Given the description of an element on the screen output the (x, y) to click on. 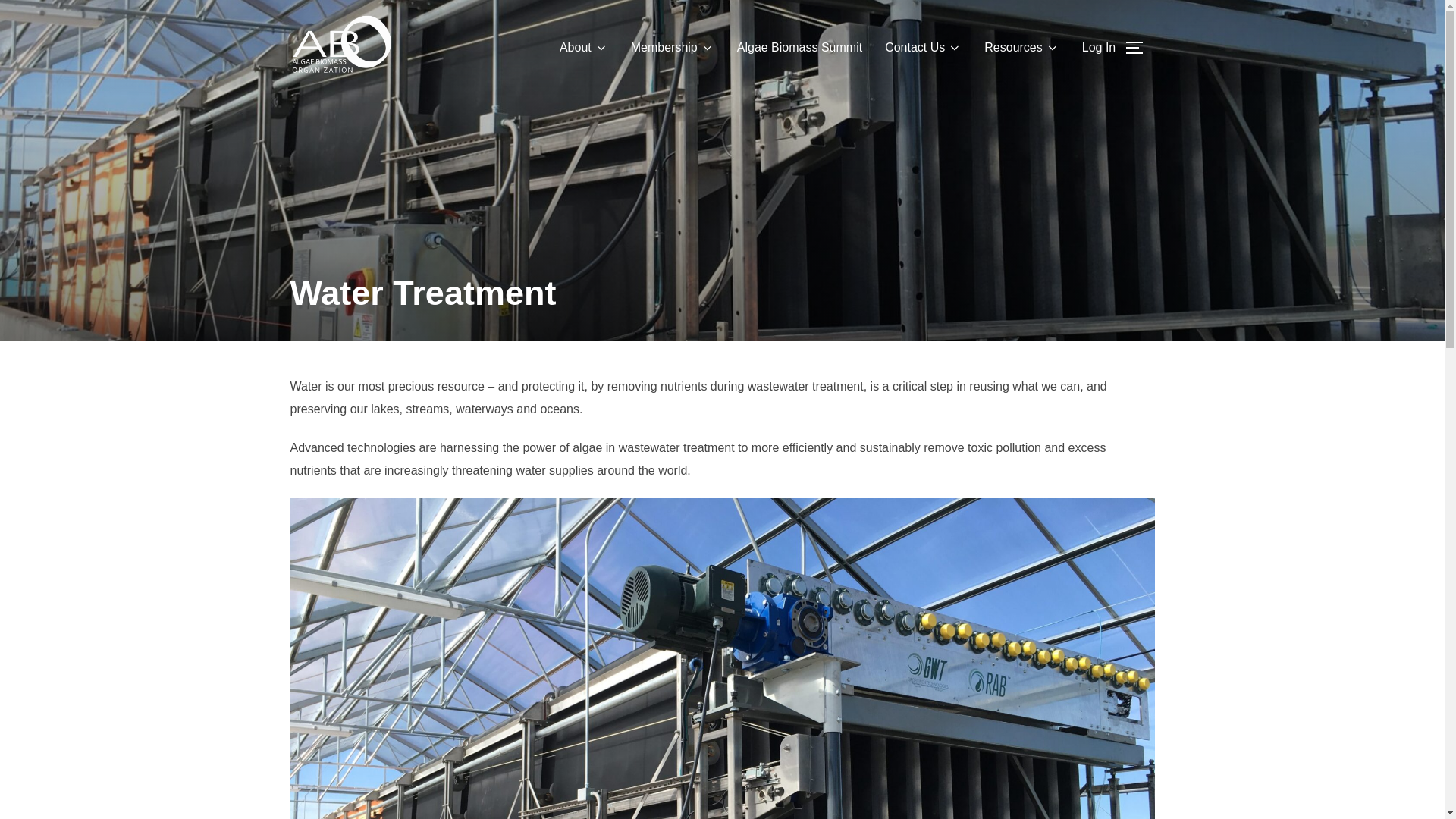
About (583, 47)
Algae Biomass Summit (798, 47)
Log In (1098, 47)
Membership (672, 47)
Resources (1021, 47)
Contact Us (922, 47)
